Given the description of an element on the screen output the (x, y) to click on. 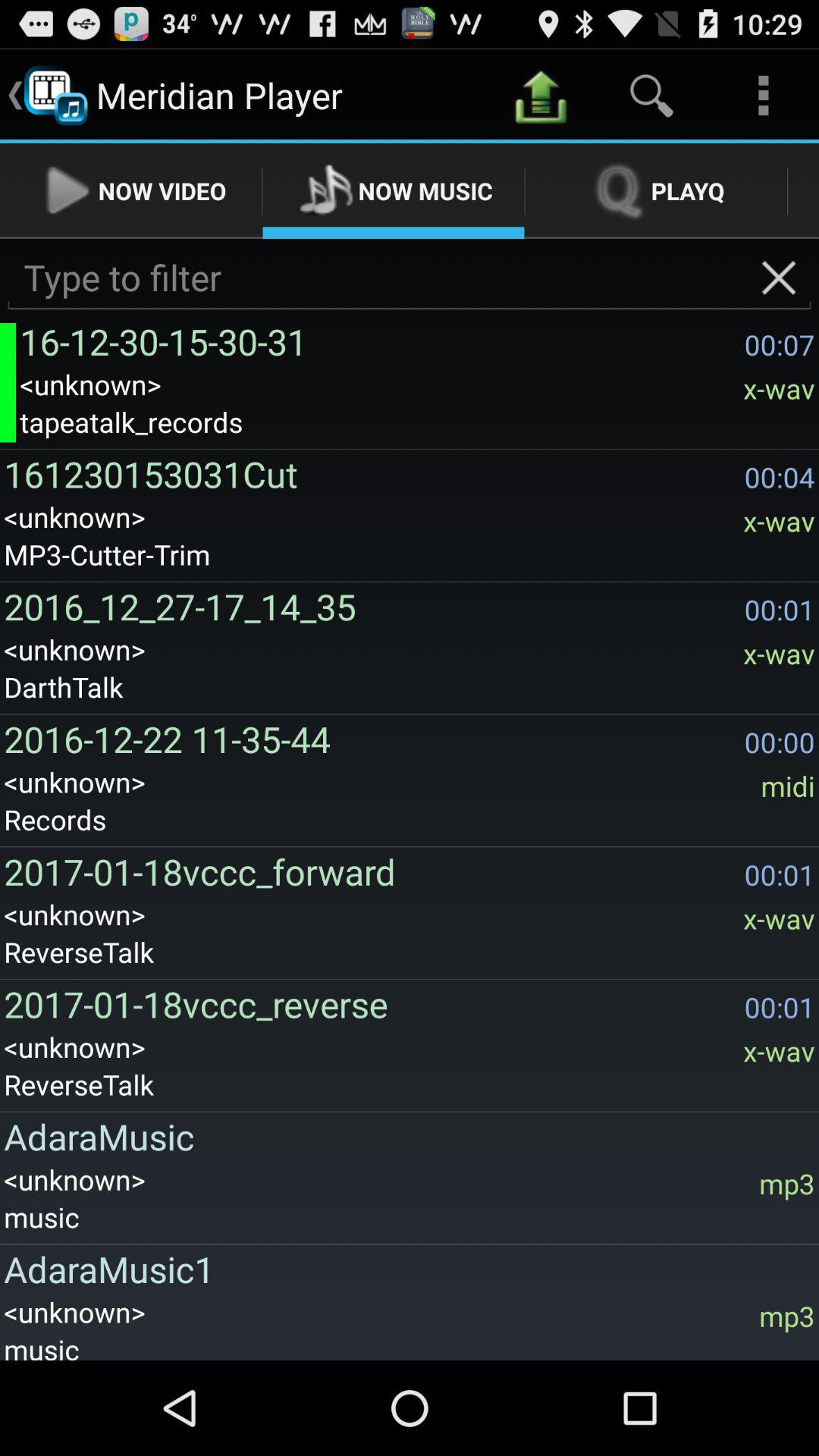
open the icon above the 00:01 icon (787, 785)
